Given the description of an element on the screen output the (x, y) to click on. 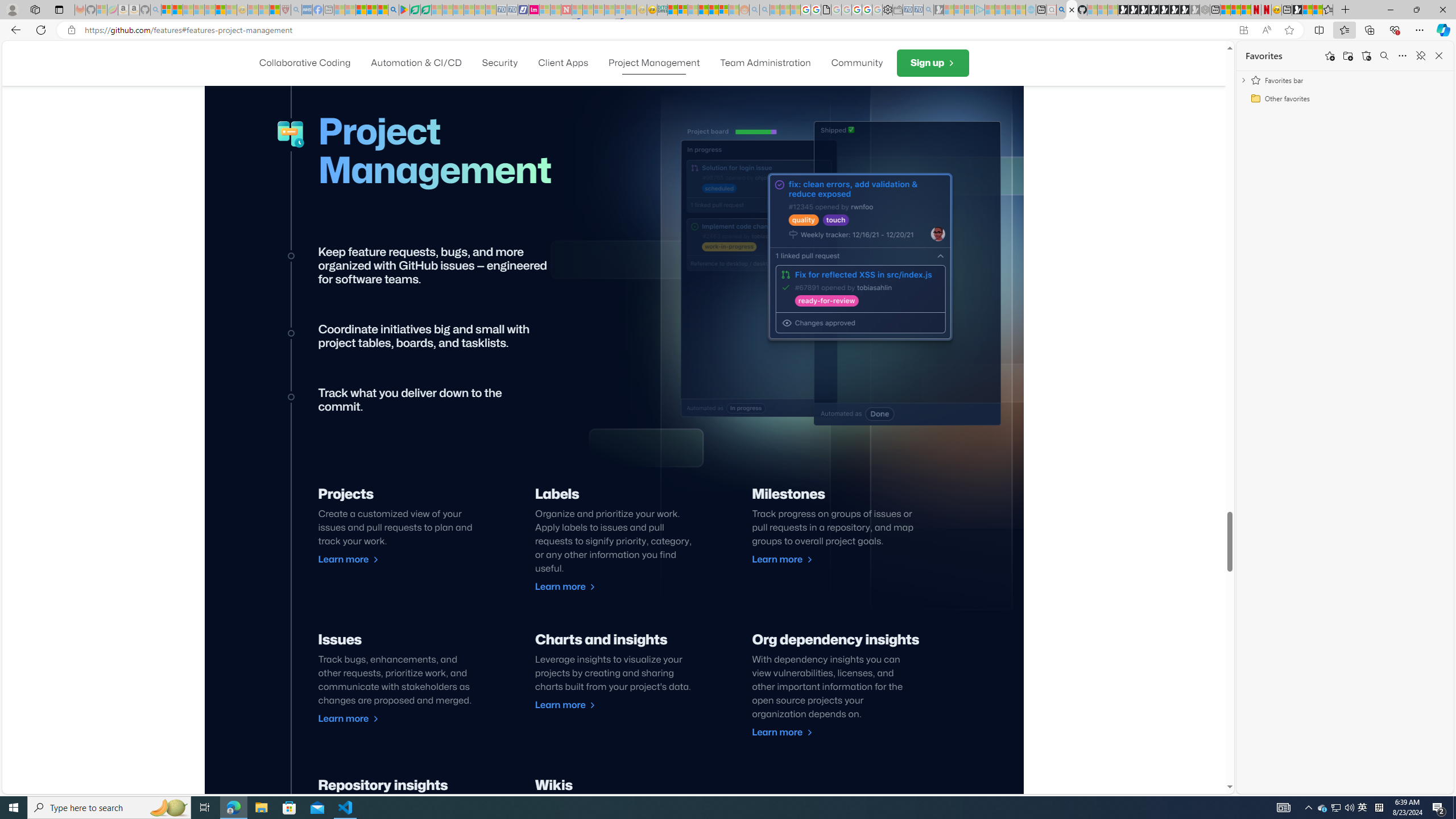
More options (1402, 55)
Refresh (40, 29)
Favorites (1263, 55)
Bing Real Estate - Home sales and rental listings - Sleeping (928, 9)
MSN (1297, 9)
Close favorites (1439, 55)
New Report Confirms 2023 Was Record Hot | Watch - Sleeping (209, 9)
Trusted Community Engagement and Contributions | Guidelines (577, 9)
New Tab (1346, 9)
